Given the description of an element on the screen output the (x, y) to click on. 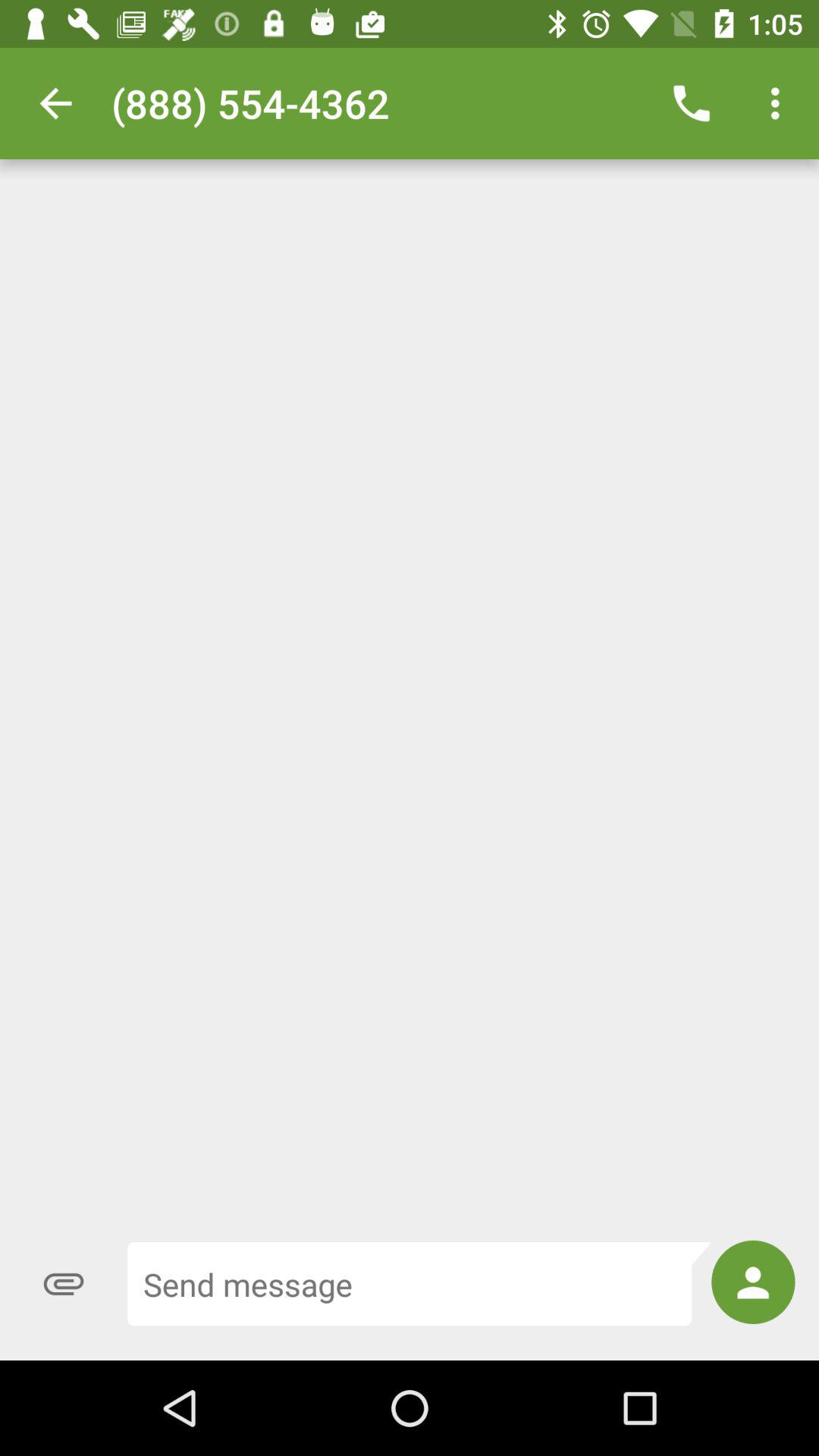
launch icon to the right of the (888) 554-4362 item (691, 103)
